Given the description of an element on the screen output the (x, y) to click on. 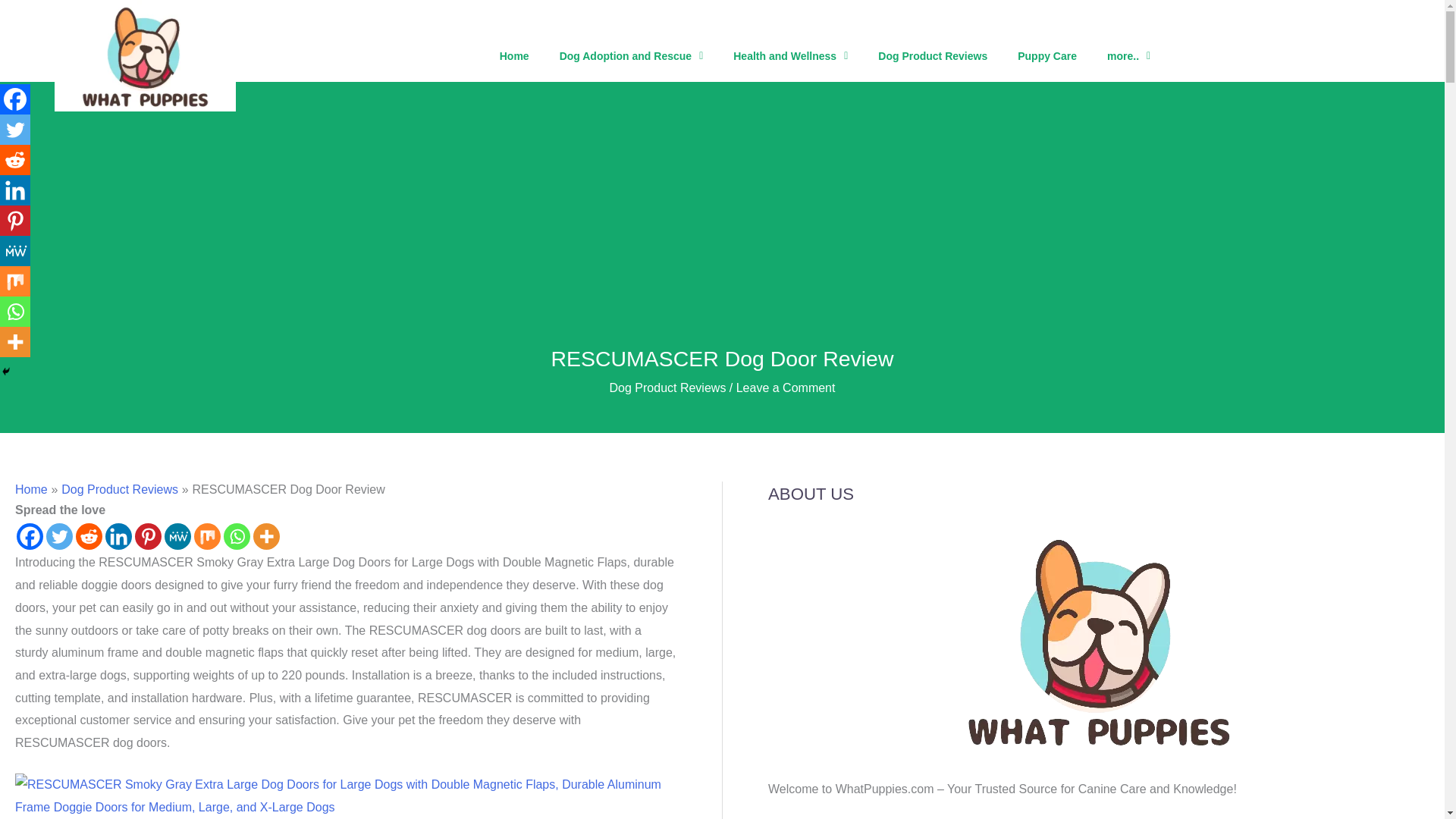
Pinterest (148, 536)
Reddit (88, 536)
Puppy Care (1047, 55)
Twitter (59, 536)
Dog Adoption and Rescue (631, 55)
Linkedin (118, 536)
Whatsapp (237, 536)
more.. (1129, 55)
